Given the description of an element on the screen output the (x, y) to click on. 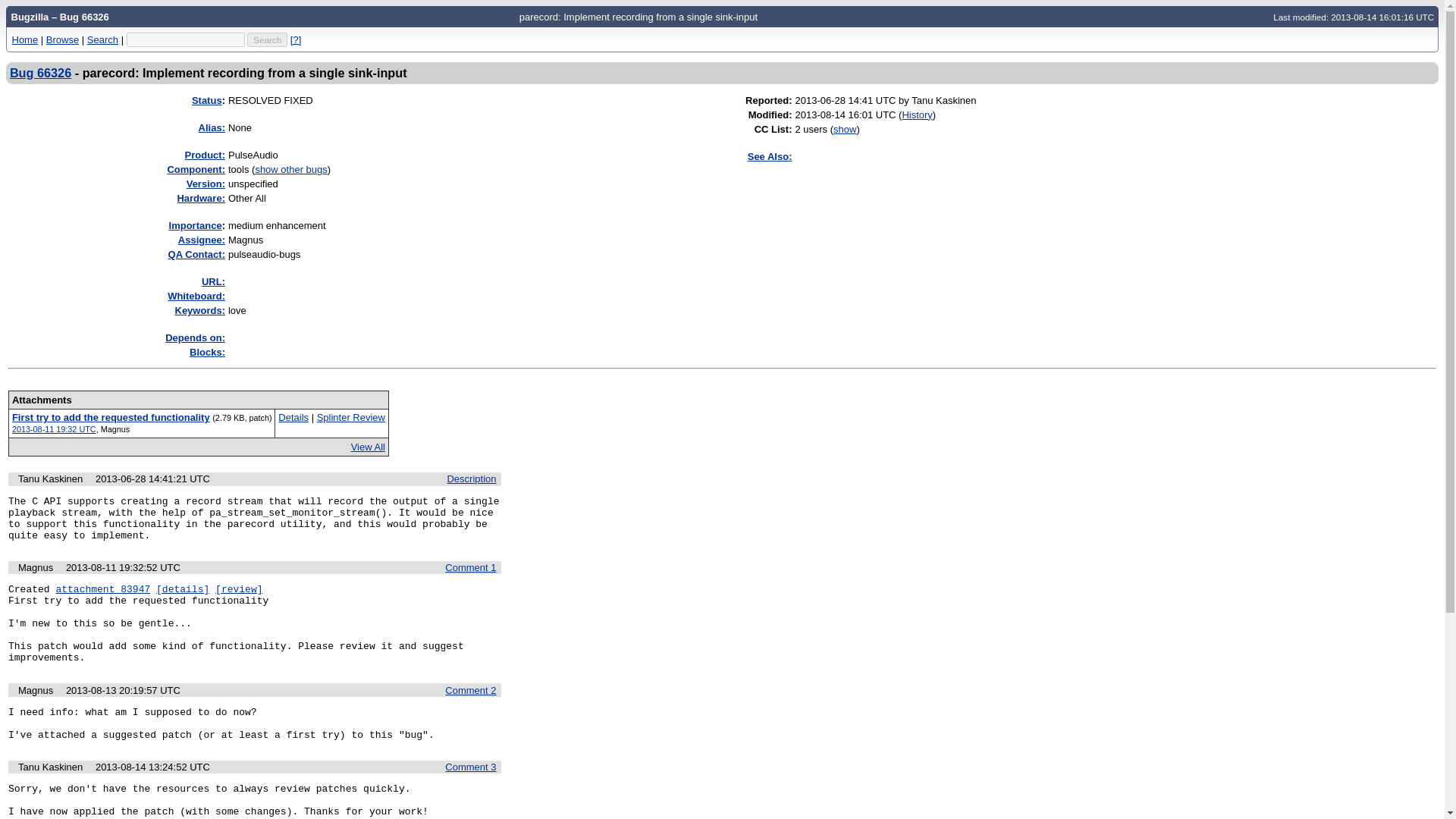
attachment 83947 (102, 589)
The person in charge of resolving the bug. (201, 239)
Depends on: (195, 337)
Search (266, 38)
Browse (62, 39)
Comment 3 (470, 767)
Assignee: (201, 239)
Product: (204, 154)
Version: (205, 183)
Splinter Review (351, 417)
History (916, 114)
Status (207, 100)
Hardware: (200, 197)
